Given the description of an element on the screen output the (x, y) to click on. 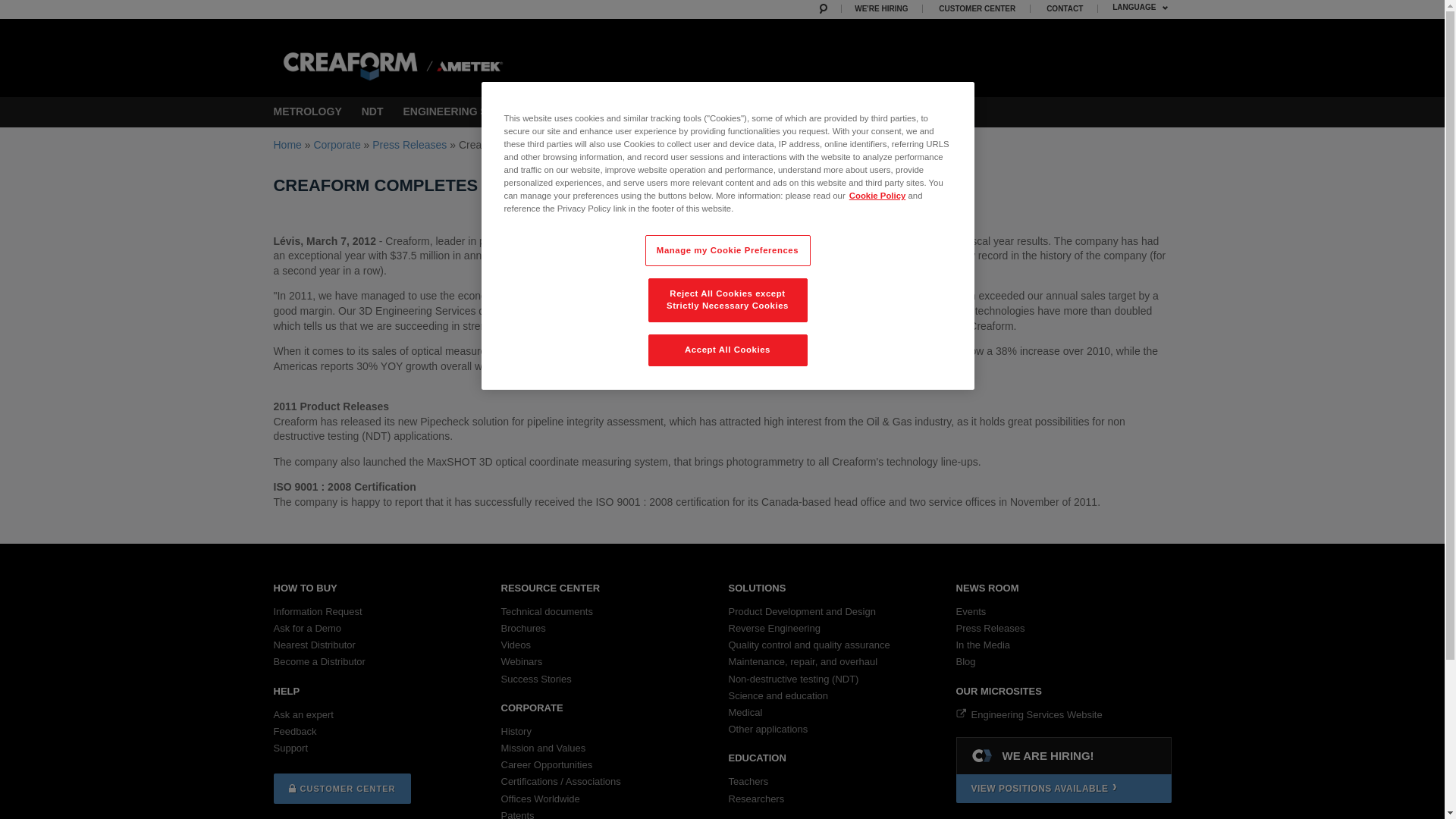
WE'RE HIRING (882, 8)
NDT (372, 111)
METROLOGY (306, 111)
CONTACT (1065, 8)
CUSTOMER CENTER (978, 8)
LANGUAGE (1141, 8)
Home (405, 55)
